Given the description of an element on the screen output the (x, y) to click on. 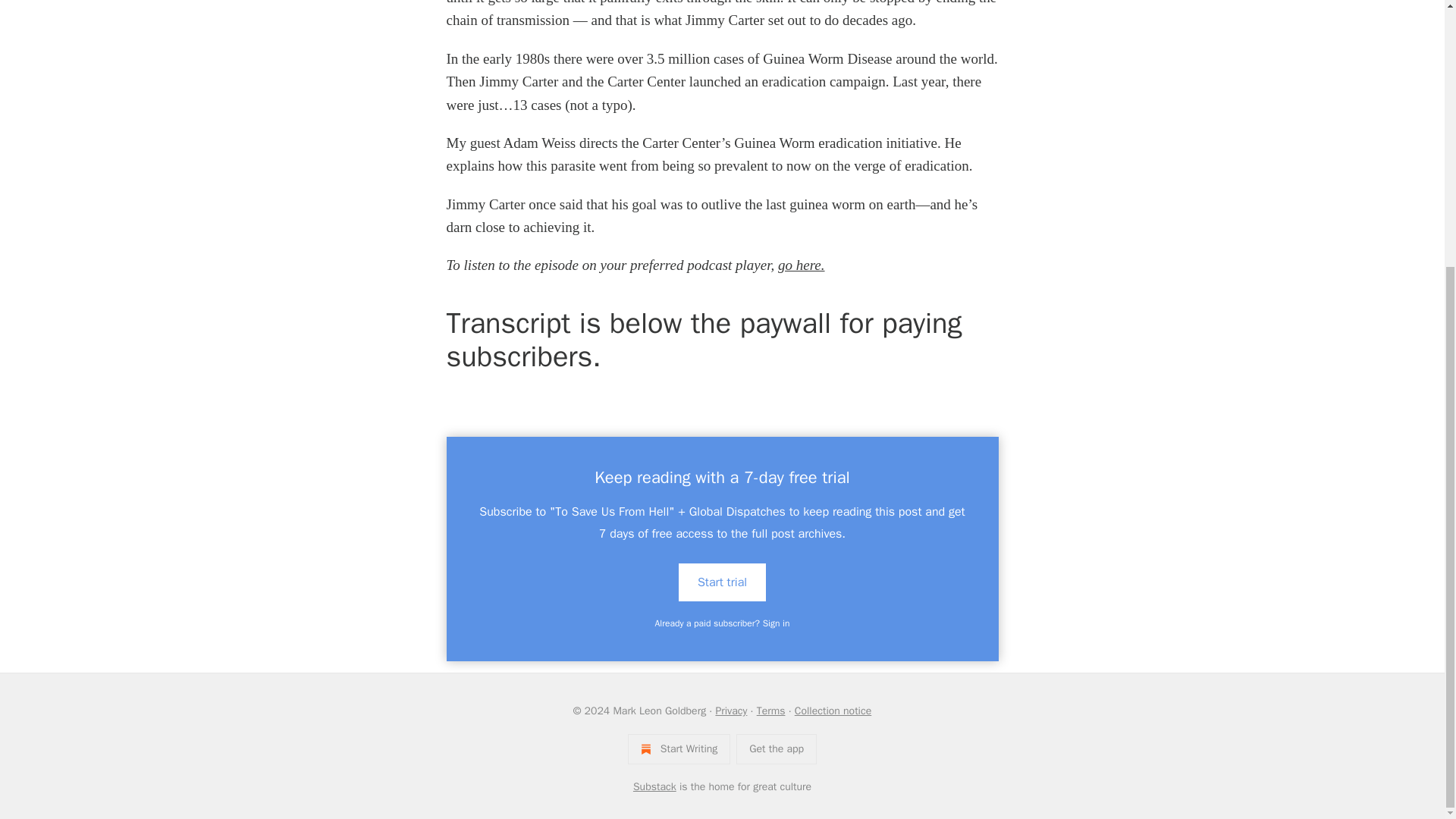
Collection notice (832, 710)
Start trial (721, 581)
Get the app (776, 748)
go here. (801, 264)
Substack (655, 786)
Start trial (721, 582)
Already a paid subscriber? Sign in (722, 623)
Terms (771, 710)
Start Writing (678, 748)
Privacy (730, 710)
